Given the description of an element on the screen output the (x, y) to click on. 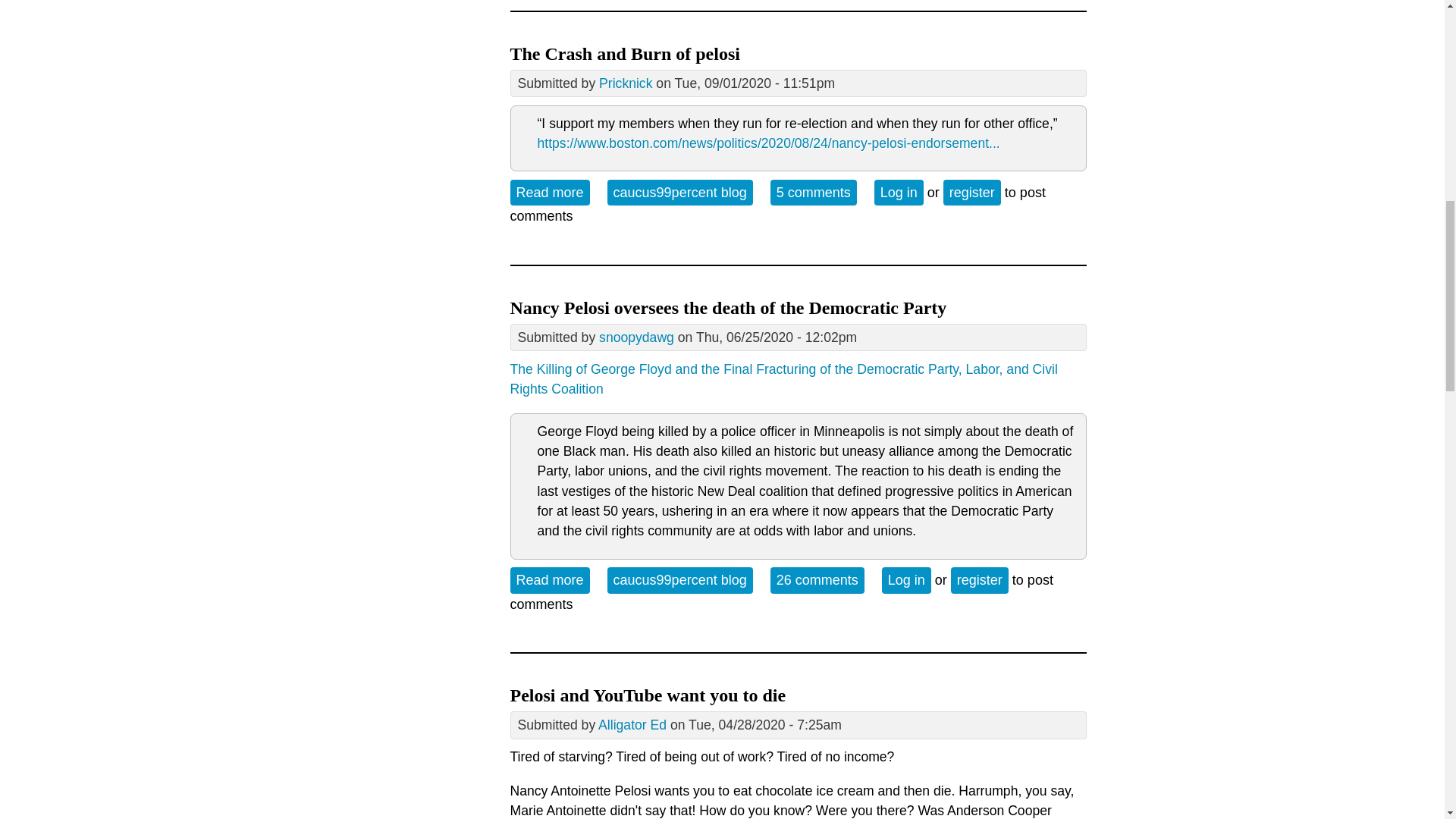
register (979, 579)
Read the latest caucus99percent blog entries. (679, 192)
The Crash and Burn of pelosi (624, 53)
Nancy Pelosi oversees the death of the Democratic Party (727, 307)
snoopydawg (636, 337)
The Crash and Burn of pelosi (549, 192)
caucus99percent blog (679, 192)
Log in (899, 192)
register (972, 192)
caucus99percent blog (549, 192)
26 comments (679, 579)
Pricknick (817, 579)
